Given the description of an element on the screen output the (x, y) to click on. 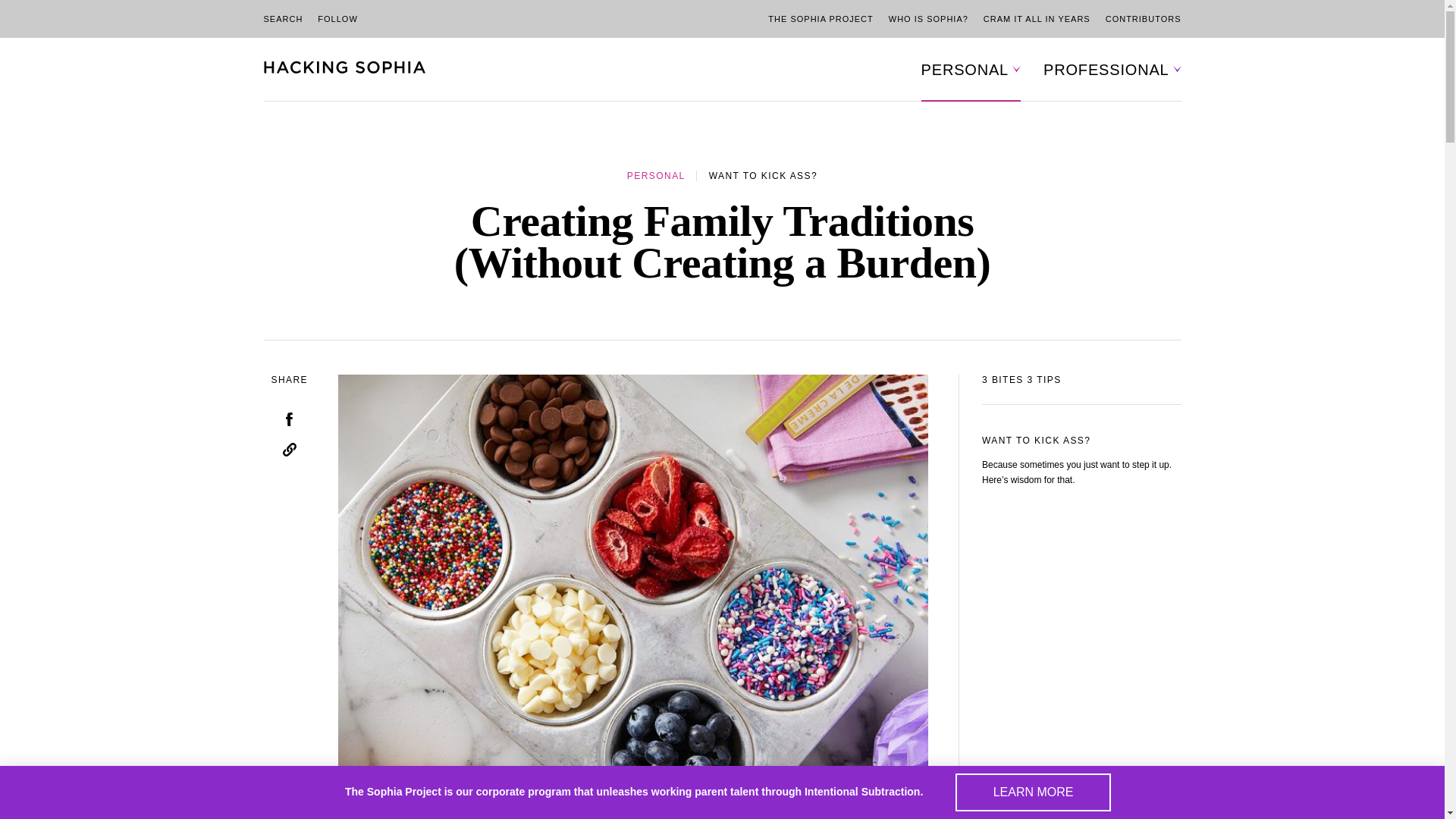
PERSONAL (965, 69)
SEARCH (282, 18)
FOLLOW (336, 18)
Search (485, 82)
CONTRIBUTORS (1142, 18)
WHO IS SOPHIA? (928, 18)
CRAM IT ALL IN YEARS (1037, 18)
PROFESSIONAL (1106, 69)
THE SOPHIA PROJECT (820, 18)
HACKING SOPHIA (344, 69)
